Given the description of an element on the screen output the (x, y) to click on. 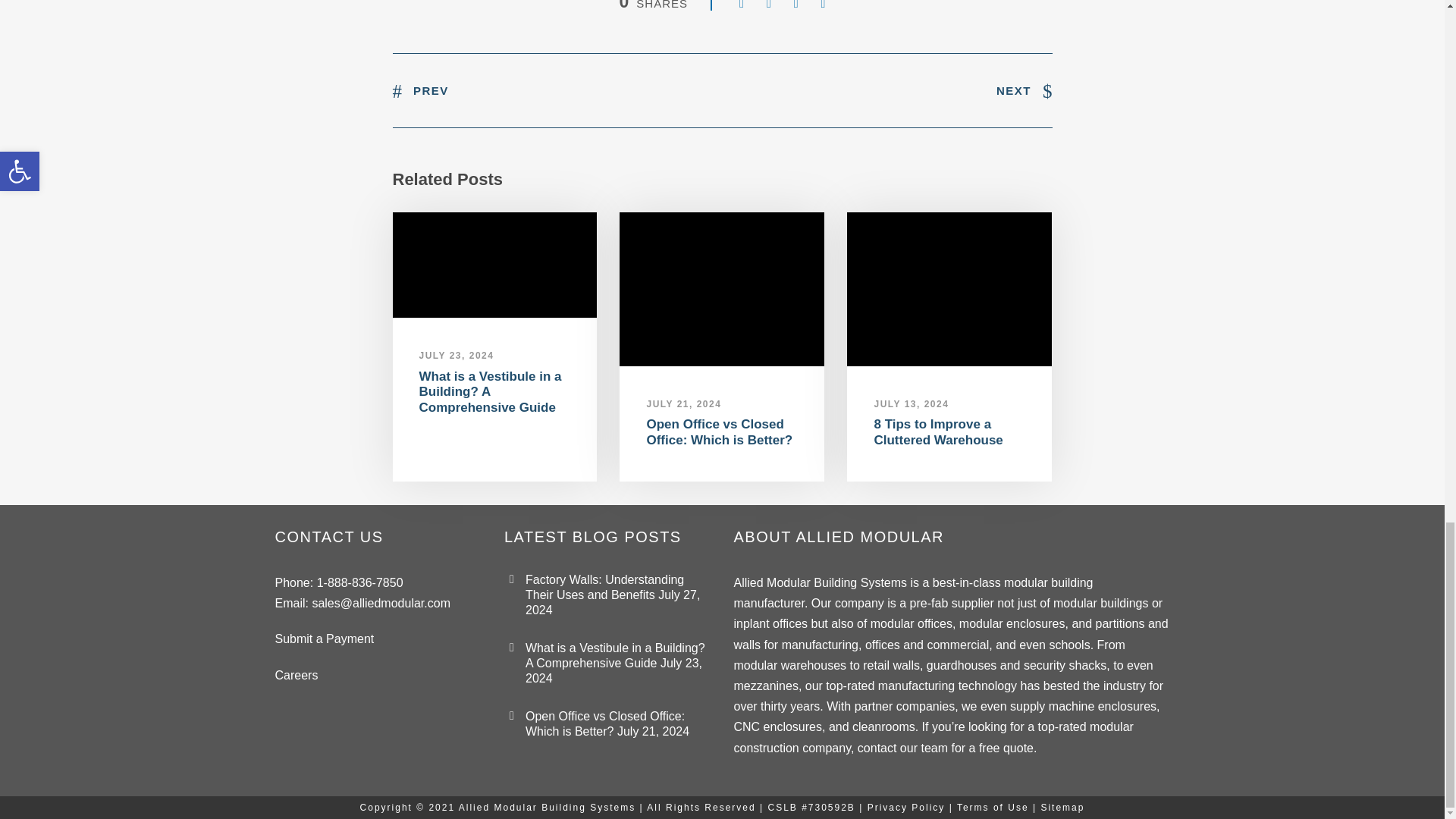
ridewell333 (494, 264)
Sitemap (1062, 807)
Call Allied Modular (360, 582)
2 story modular offices by Allied Modular (722, 288)
